Given the description of an element on the screen output the (x, y) to click on. 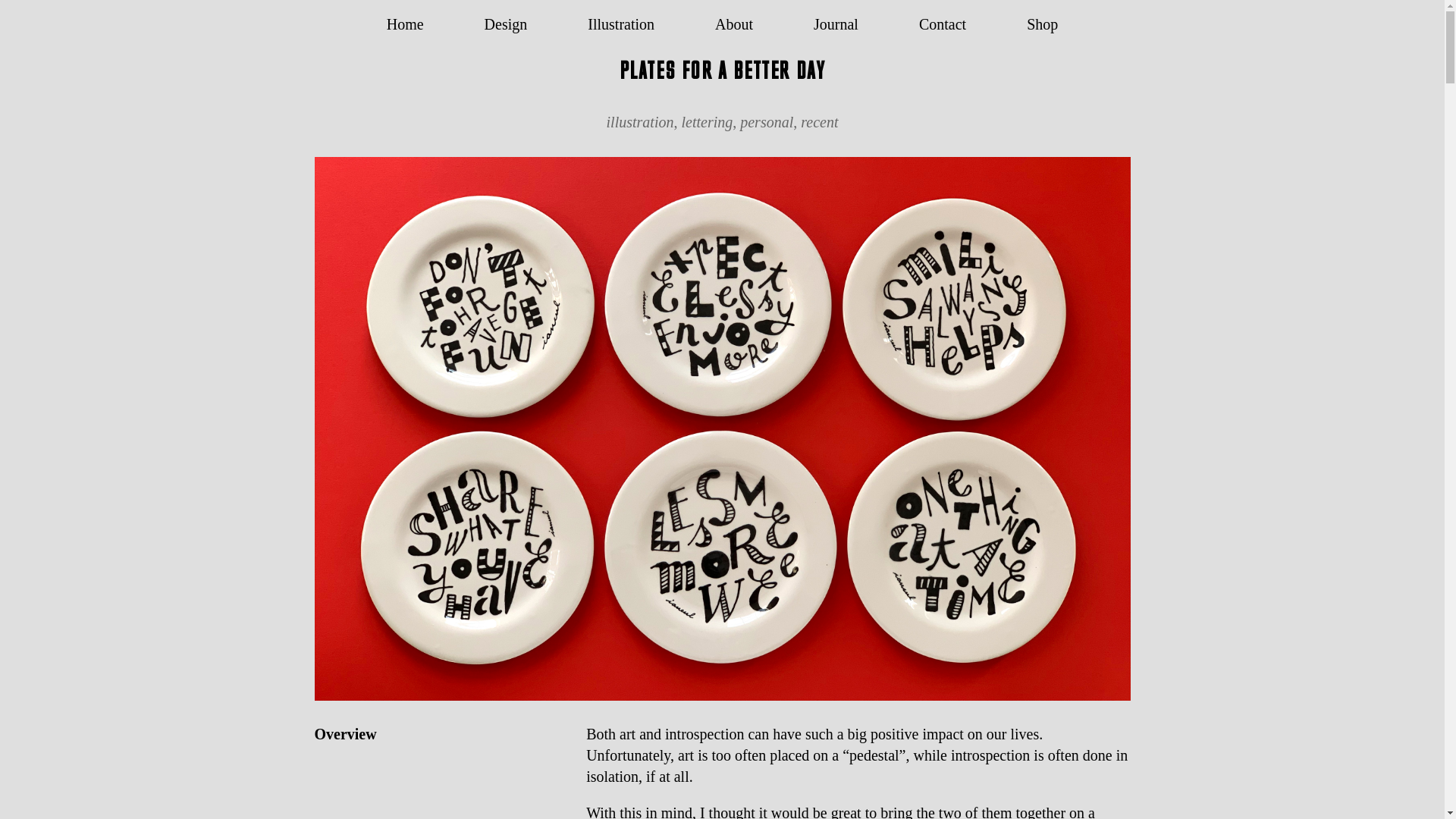
About (733, 24)
Design (505, 24)
Illustration (620, 24)
Contact (942, 24)
recent (819, 121)
personal (766, 121)
lettering (706, 121)
Journal (836, 24)
Home (405, 24)
Shop (1042, 24)
illustration (640, 121)
